Given the description of an element on the screen output the (x, y) to click on. 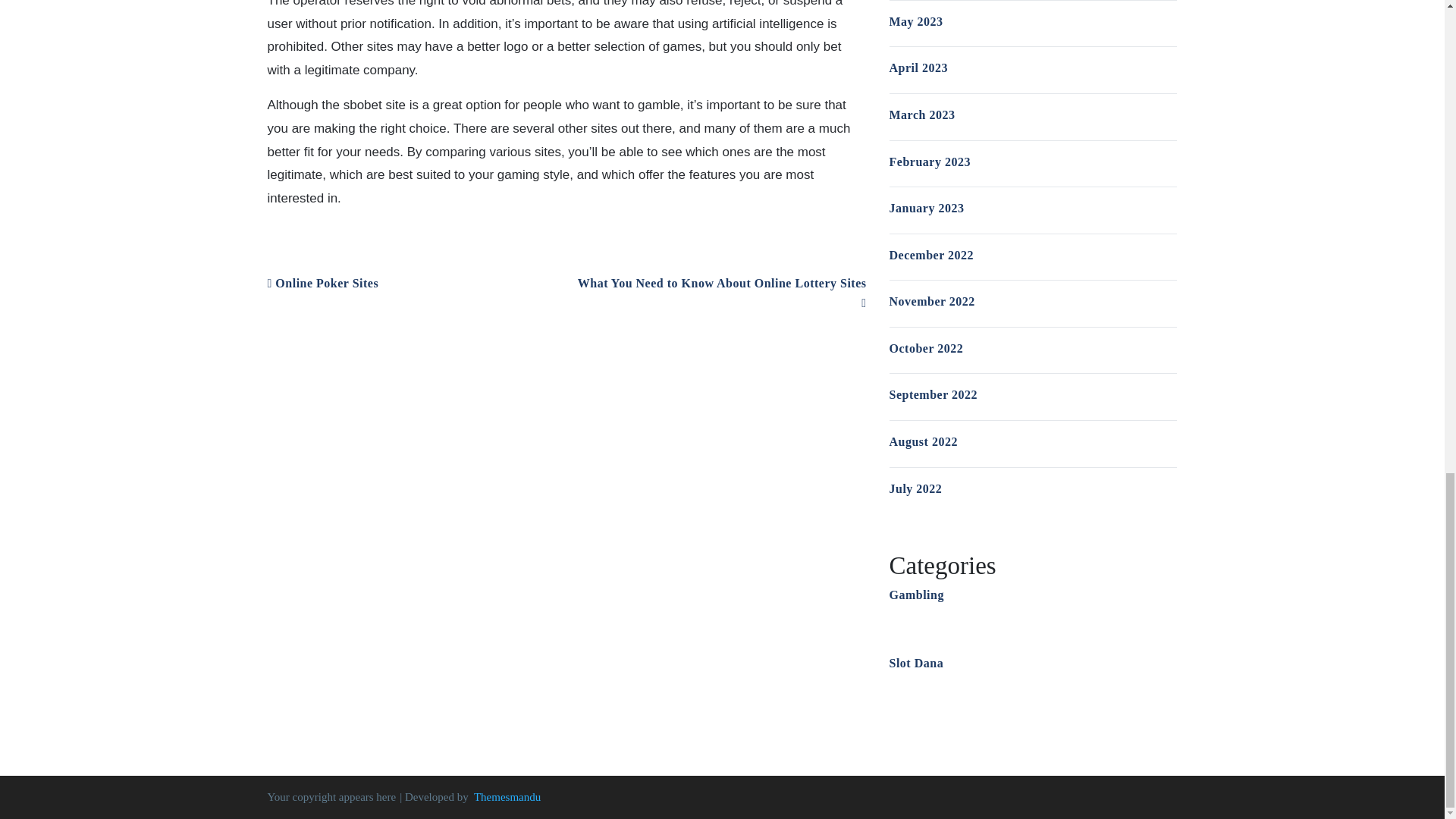
Slot Dana (915, 662)
April 2023 (917, 67)
Themesmandu (507, 797)
July 2022 (915, 488)
December 2022 (931, 254)
January 2023 (925, 207)
September 2022 (932, 394)
Online Poker Sites (322, 282)
November 2022 (931, 300)
August 2022 (922, 440)
May 2023 (915, 21)
What You Need to Know About Online Lottery Sites (722, 292)
February 2023 (928, 161)
October 2022 (925, 348)
Gambling (915, 594)
